Given the description of an element on the screen output the (x, y) to click on. 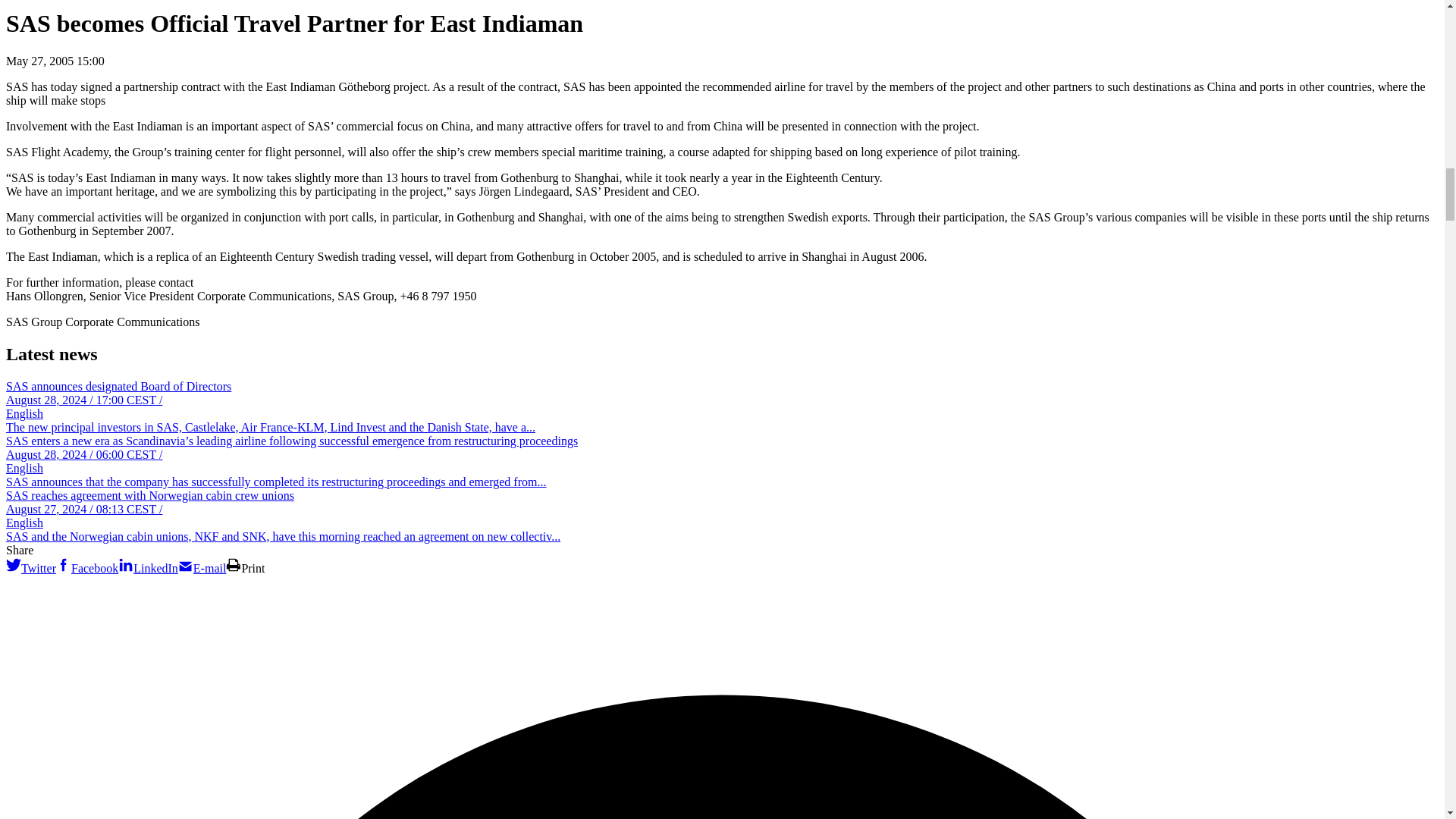
LinkedIn (125, 564)
Facebook (63, 564)
E-mail (185, 564)
Twitter (13, 564)
Print (233, 564)
